Given the description of an element on the screen output the (x, y) to click on. 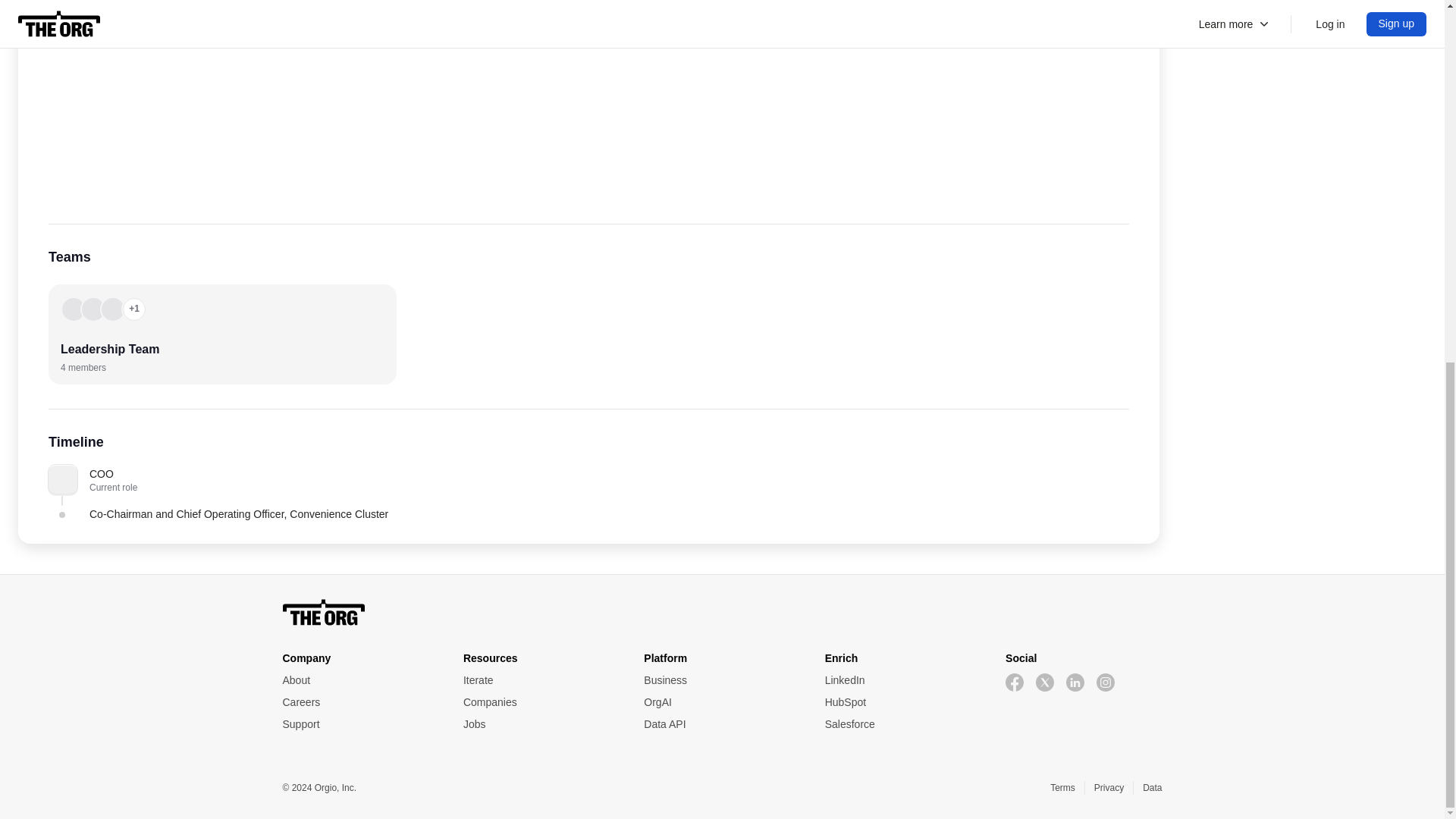
Companies (541, 702)
Careers (360, 702)
Jobs (541, 724)
Business (721, 680)
OrgAI (721, 702)
HubSpot (903, 702)
Support (360, 724)
Business (721, 680)
Data API (721, 724)
Support (360, 724)
